Given the description of an element on the screen output the (x, y) to click on. 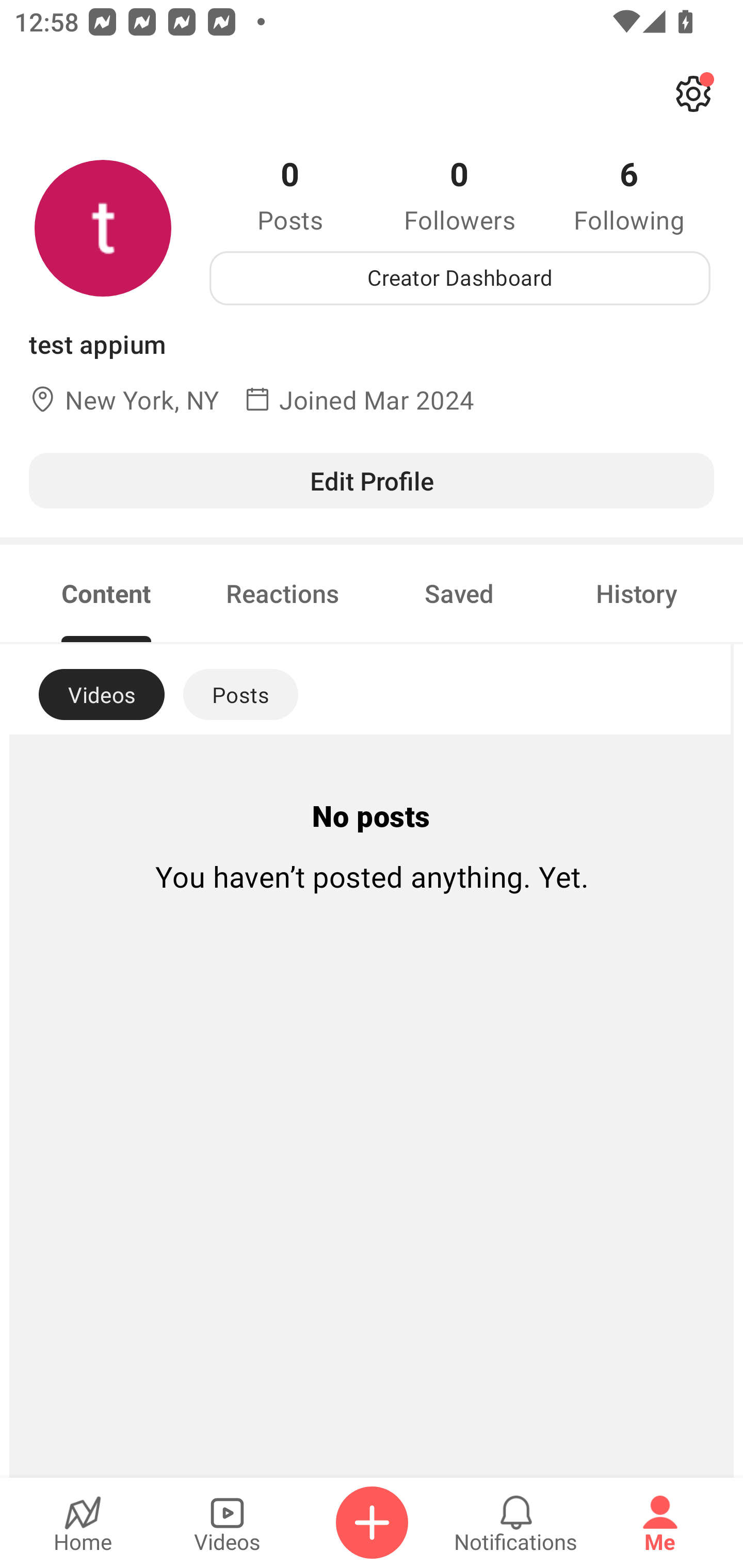
0 Followers (459, 194)
6 Following (629, 194)
Creator Dashboard (459, 277)
Edit Profile (371, 480)
Reactions (282, 593)
Saved (459, 593)
History (636, 593)
Posts (240, 694)
Home (83, 1522)
Videos (227, 1522)
Notifications (516, 1522)
